Given the description of an element on the screen output the (x, y) to click on. 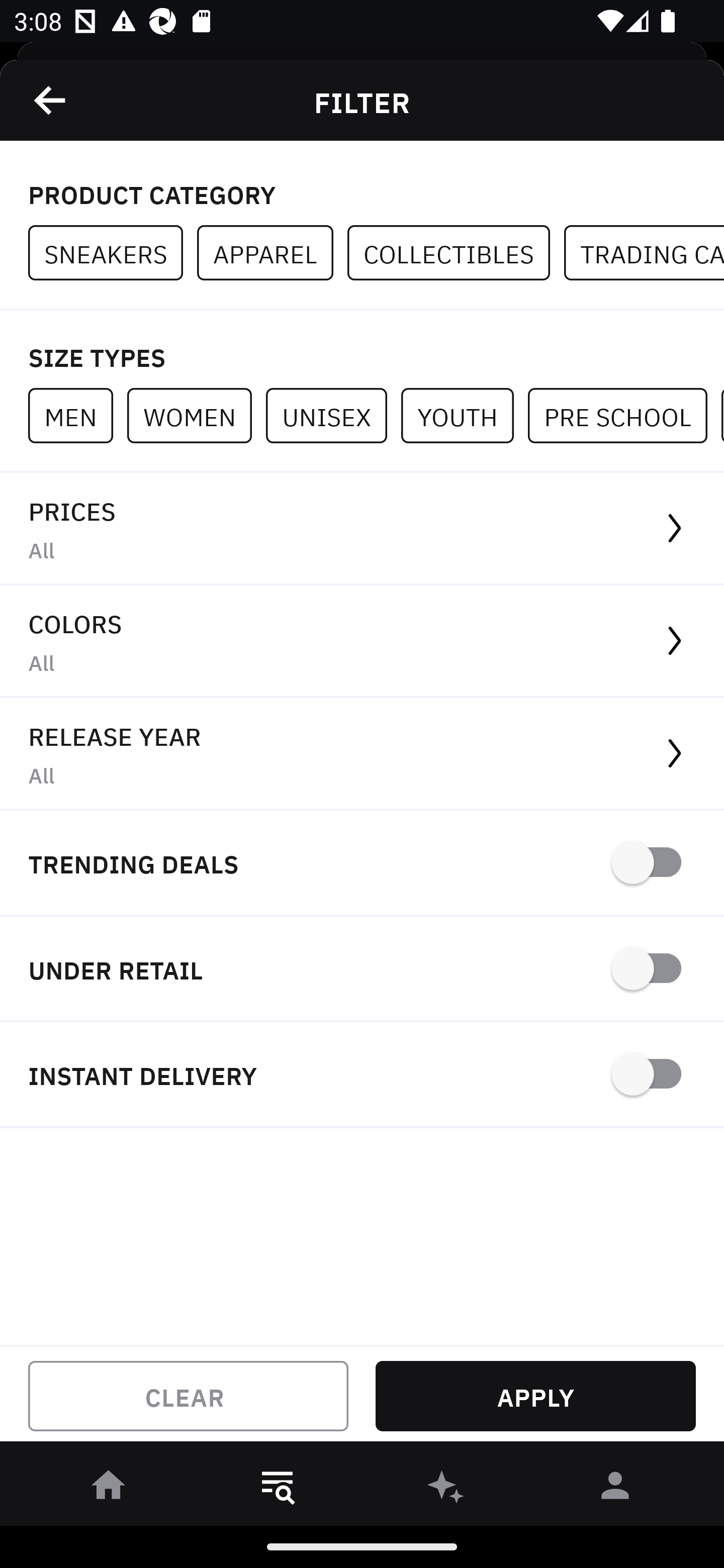
 (50, 100)
SNEAKERS (112, 252)
APPAREL (271, 252)
COLLECTIBLES (455, 252)
TRADING CARDS (643, 252)
MEN (77, 415)
WOMEN (196, 415)
UNISEX (333, 415)
YOUTH (464, 415)
PRE SCHOOL (624, 415)
PRICES All (362, 528)
COLORS All (362, 640)
RELEASE YEAR All (362, 753)
TRENDING DEALS (362, 863)
UNDER RETAIL (362, 969)
INSTANT DELIVERY (362, 1075)
CLEAR  (188, 1396)
APPLY (535, 1396)
󰋜 (108, 1488)
󱎸 (277, 1488)
󰫢 (446, 1488)
󰀄 (615, 1488)
